Given the description of an element on the screen output the (x, y) to click on. 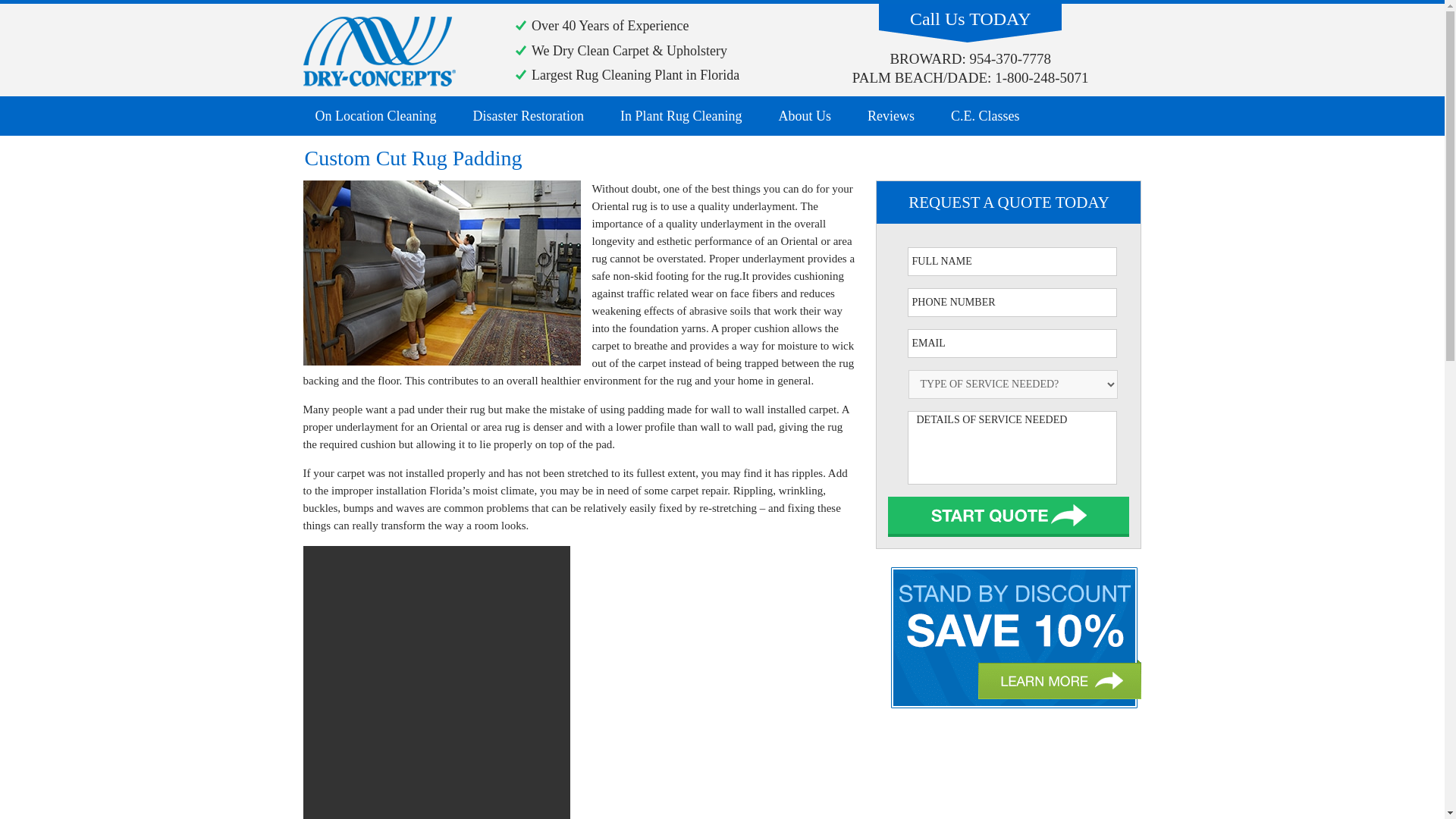
In Plant Rug Cleaning (681, 115)
About Us (804, 115)
Next (1008, 516)
Disaster Restoration (527, 115)
On Location Cleaning (375, 115)
